Given the description of an element on the screen output the (x, y) to click on. 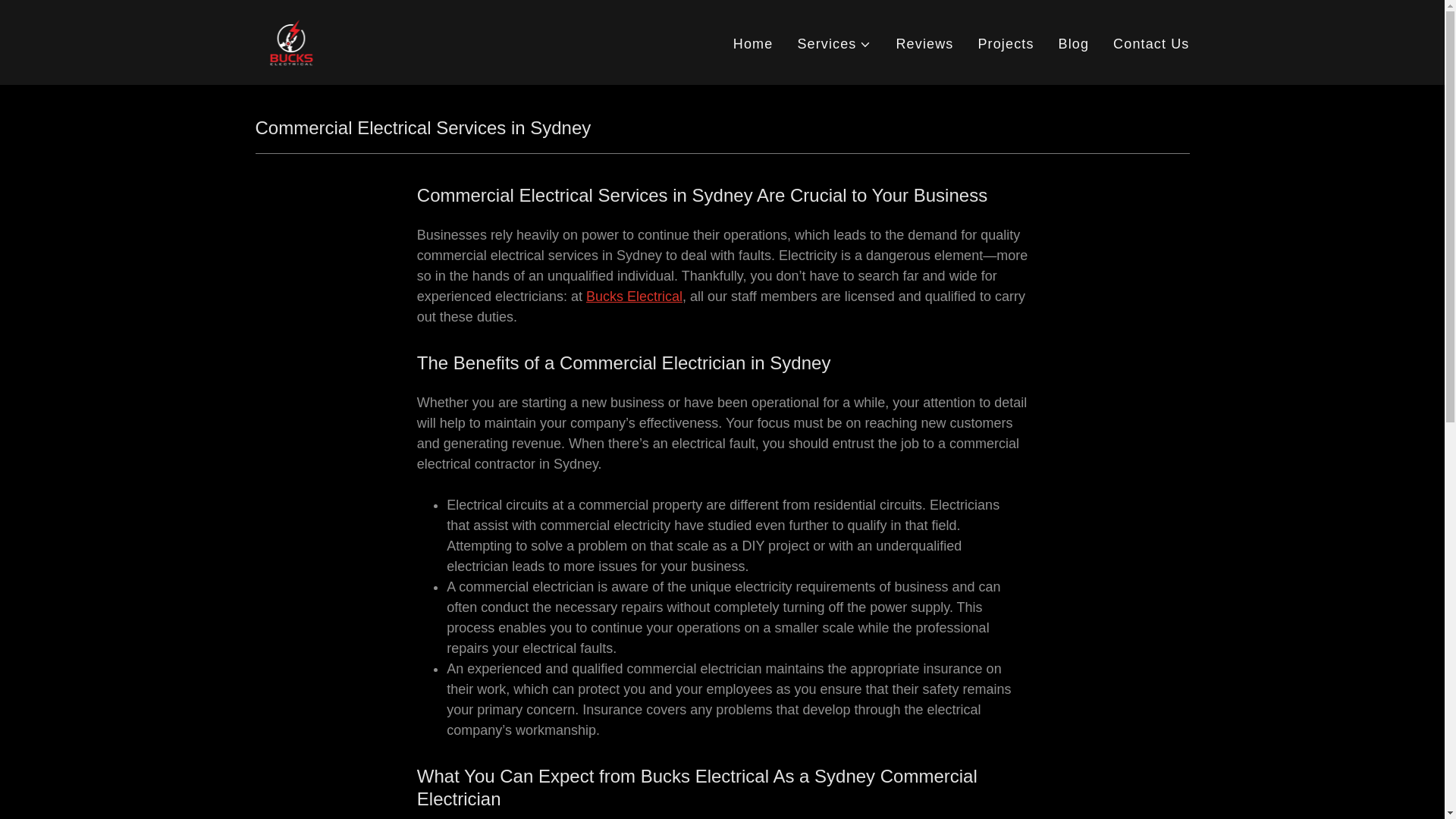
Contact Us (1150, 43)
Bucks Electrical (290, 41)
Blog (1074, 43)
Bucks Electrical (634, 296)
Services (833, 44)
Reviews (924, 43)
Home (753, 43)
Projects (1005, 43)
